Given the description of an element on the screen output the (x, y) to click on. 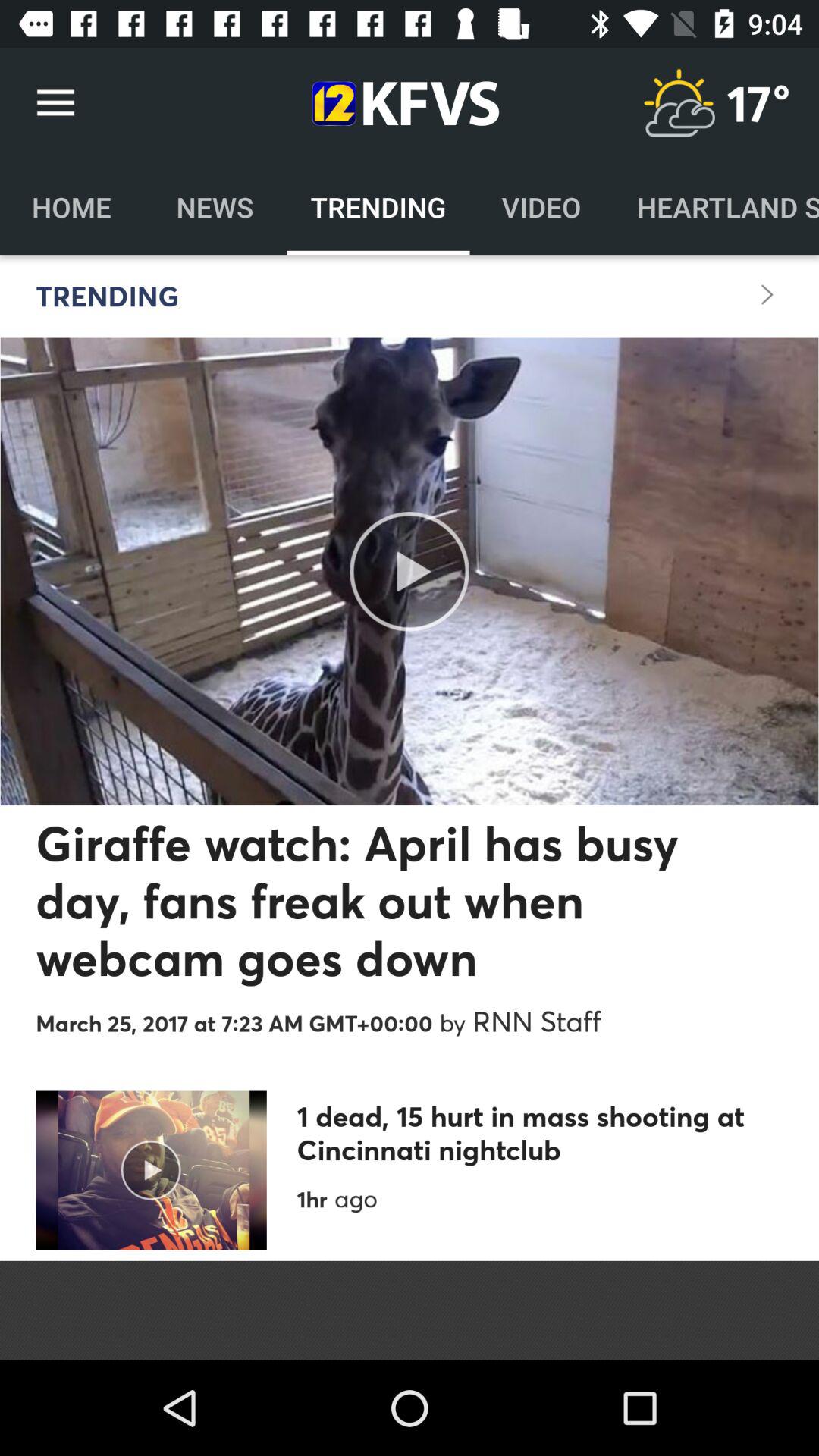
go to further information about the current weather (678, 103)
